Given the description of an element on the screen output the (x, y) to click on. 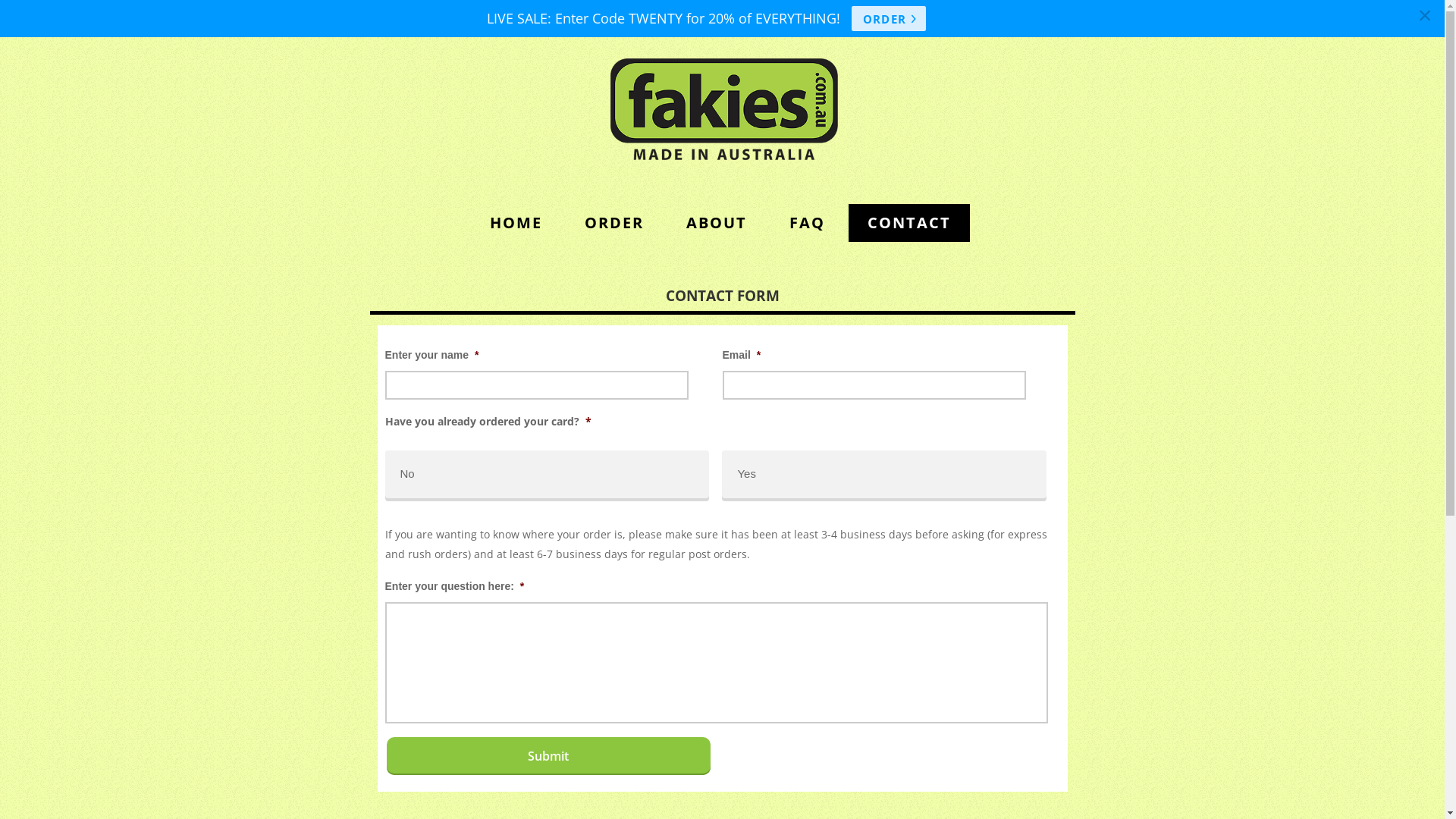
CONTACT Element type: text (908, 222)
ORDER Element type: text (613, 222)
HOME Element type: text (515, 222)
Submit Element type: text (548, 756)
FAQ Element type: text (807, 222)
ORDER Element type: text (888, 18)
ABOUT Element type: text (716, 222)
